Given the description of an element on the screen output the (x, y) to click on. 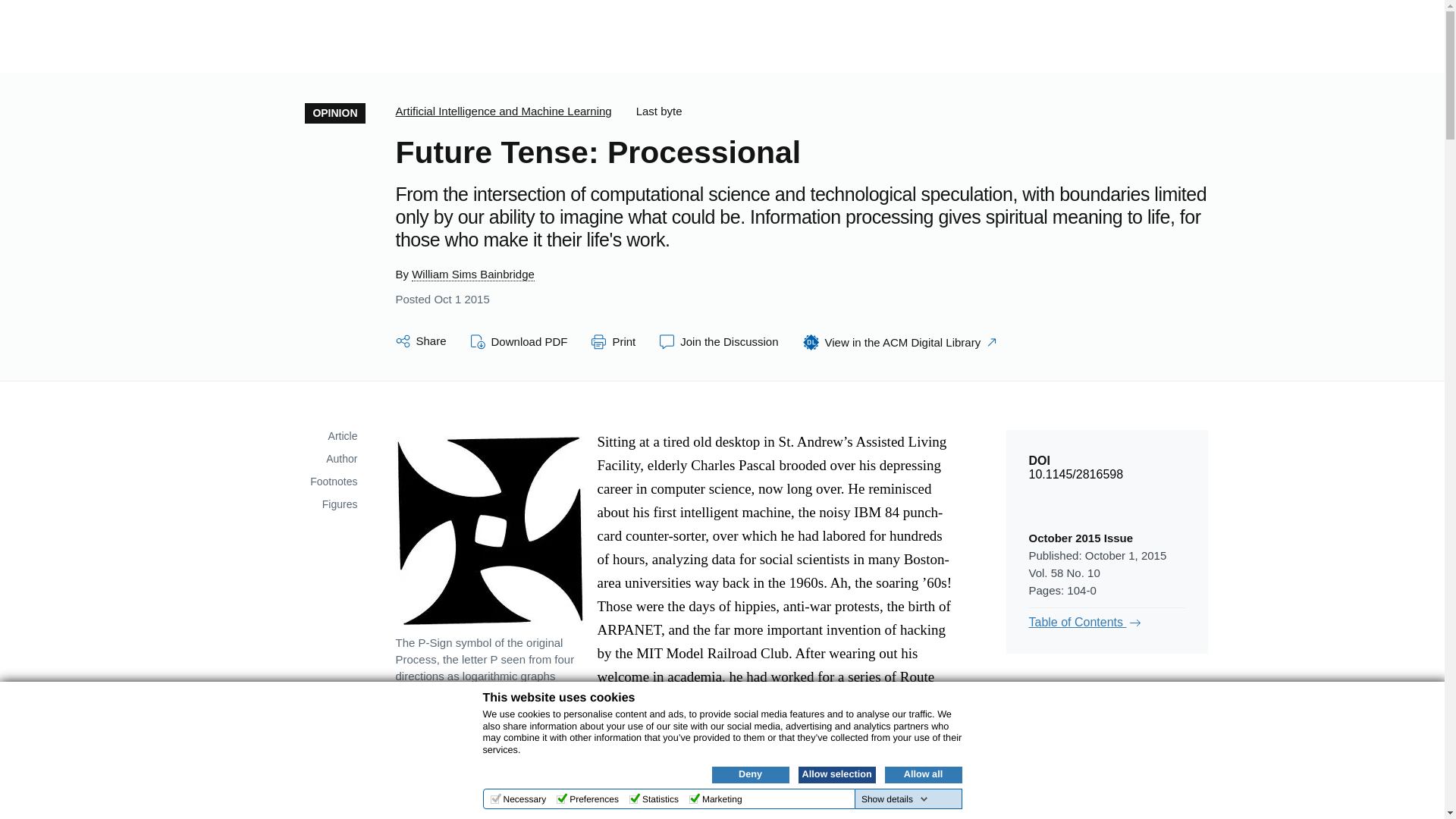
Show details (895, 799)
Allow selection (836, 774)
Allow all (921, 774)
Deny (750, 774)
